Given the description of an element on the screen output the (x, y) to click on. 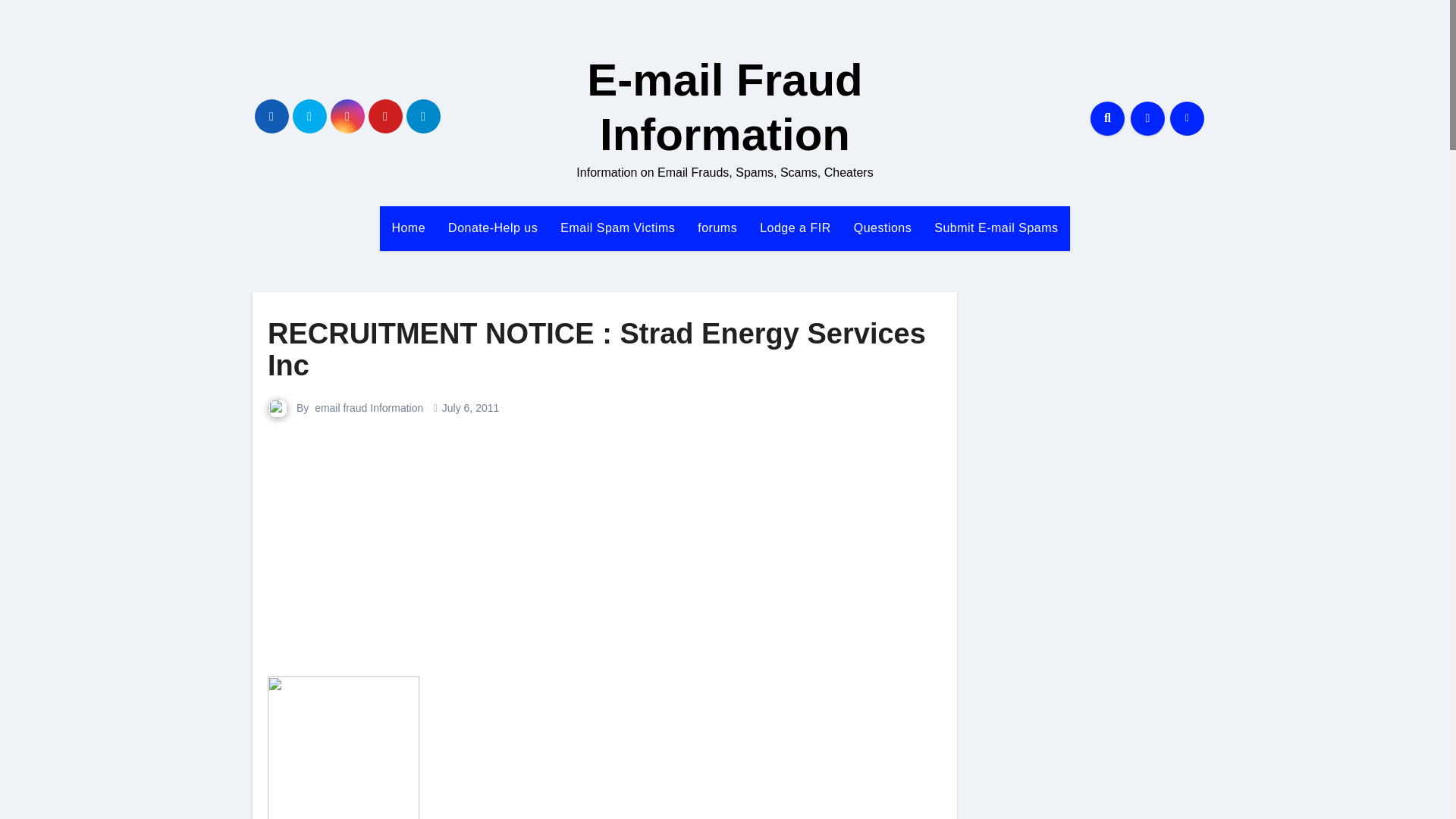
Home (408, 228)
Questions (883, 228)
July 6, 2011 (470, 408)
Permalink to: RECRUITMENT NOTICE : Strad Energy Services Inc (596, 349)
Submit E-mail Spams (995, 228)
email fraud Information (368, 408)
Email Spam Victims (616, 228)
Donate-Help us (492, 228)
forums (716, 228)
Home (408, 228)
Lodge a FIR (795, 228)
E-mail Fraud Information (723, 106)
RECRUITMENT NOTICE : Strad Energy Services Inc (596, 349)
